Given the description of an element on the screen output the (x, y) to click on. 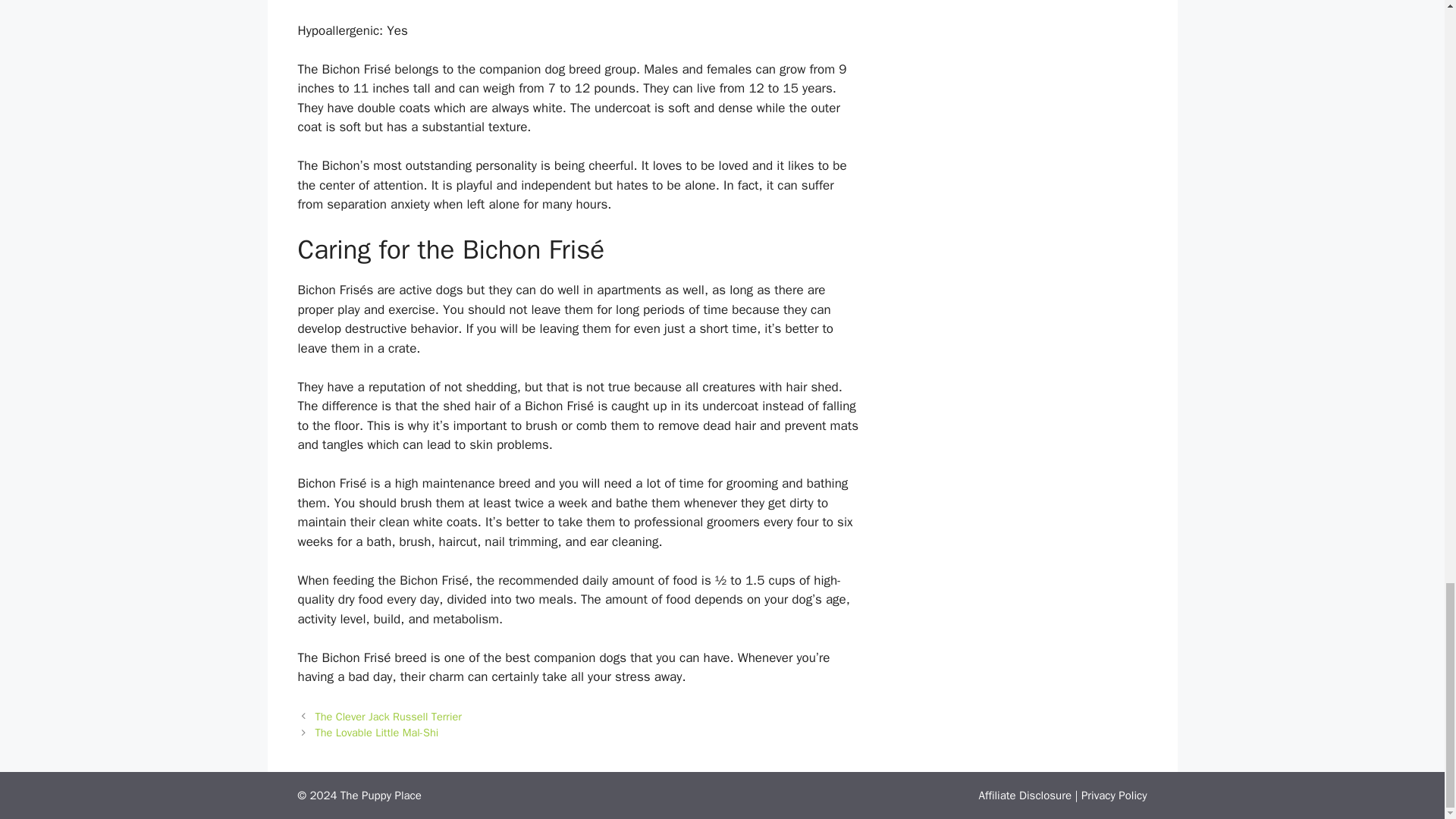
The Lovable Little Mal-Shi (377, 732)
Privacy Policy (1114, 795)
The Clever Jack Russell Terrier (388, 716)
Affiliate Disclosure (1024, 795)
